Given the description of an element on the screen output the (x, y) to click on. 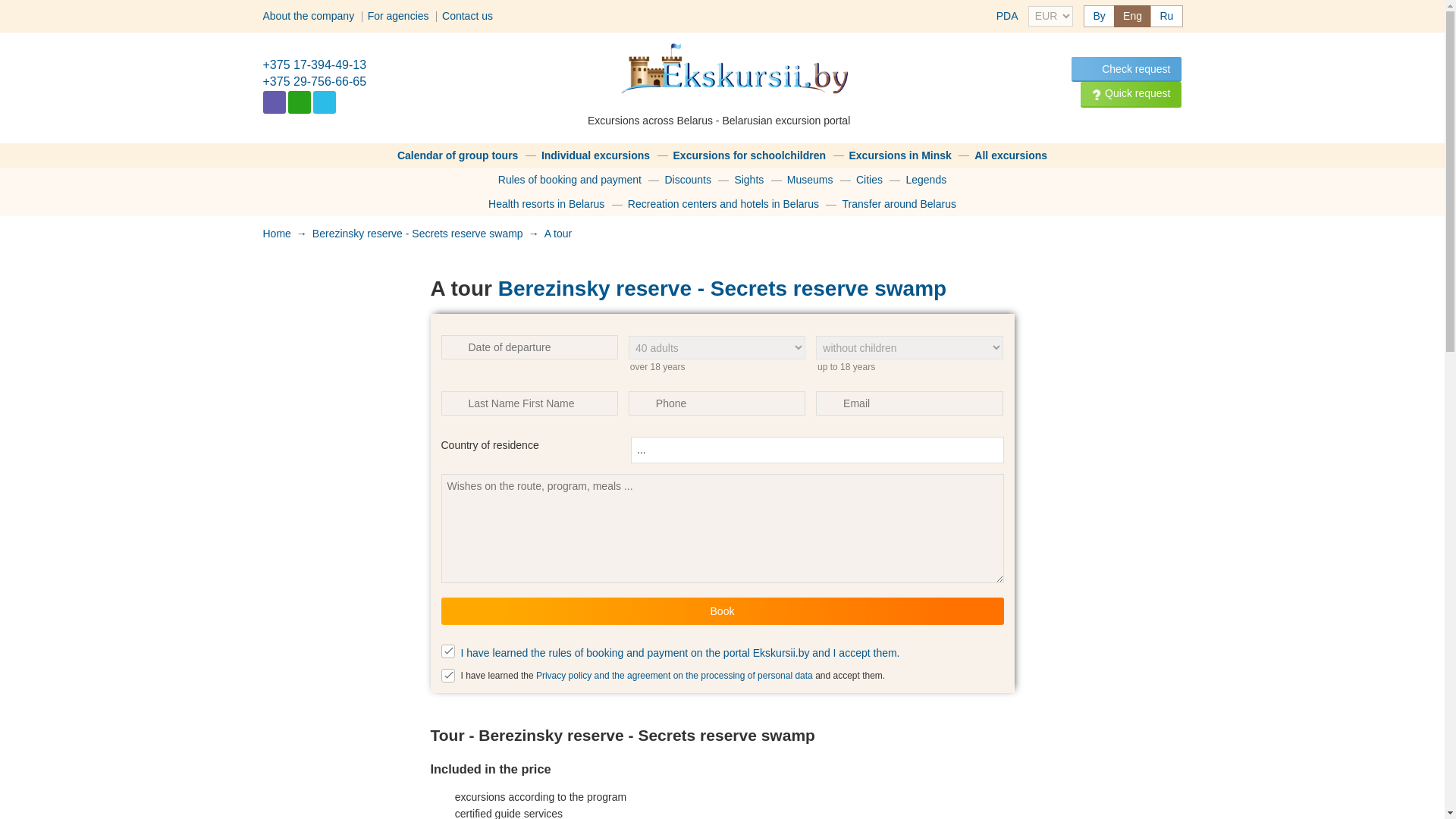
Check request (1125, 68)
Contact us (467, 15)
Sights (747, 179)
All excursions in Minsk (900, 155)
Choose the currency (1050, 15)
... (817, 449)
Health resorts in Belarus (545, 203)
